Given the description of an element on the screen output the (x, y) to click on. 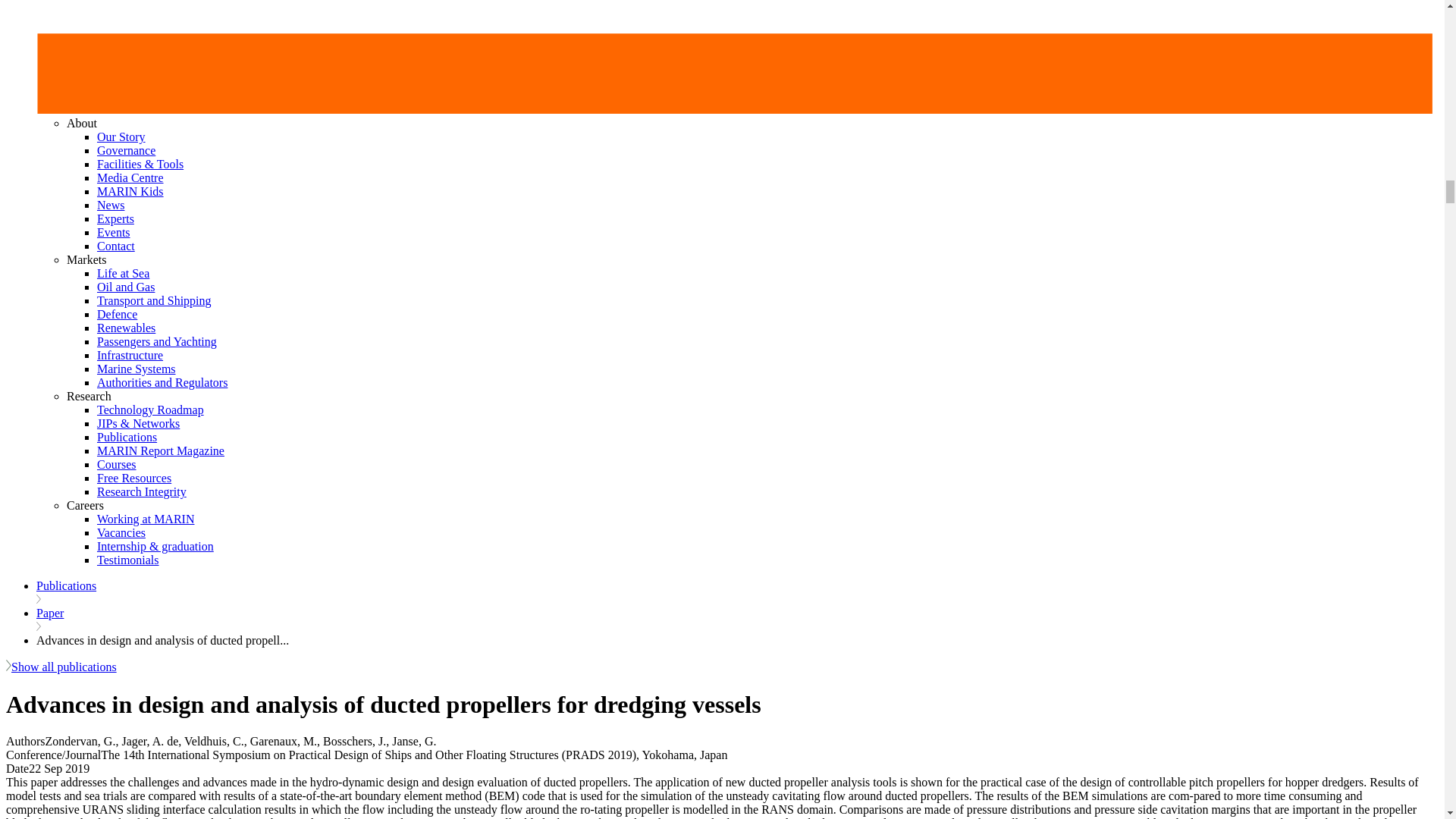
Authorities and Regulators (162, 382)
Vacancies (121, 532)
Paper (50, 612)
Research Integrity (141, 491)
Events (114, 232)
Governance (126, 150)
Show all publications (60, 666)
Defence (116, 314)
Infrastructure (130, 354)
Testimonials (127, 559)
